Given the description of an element on the screen output the (x, y) to click on. 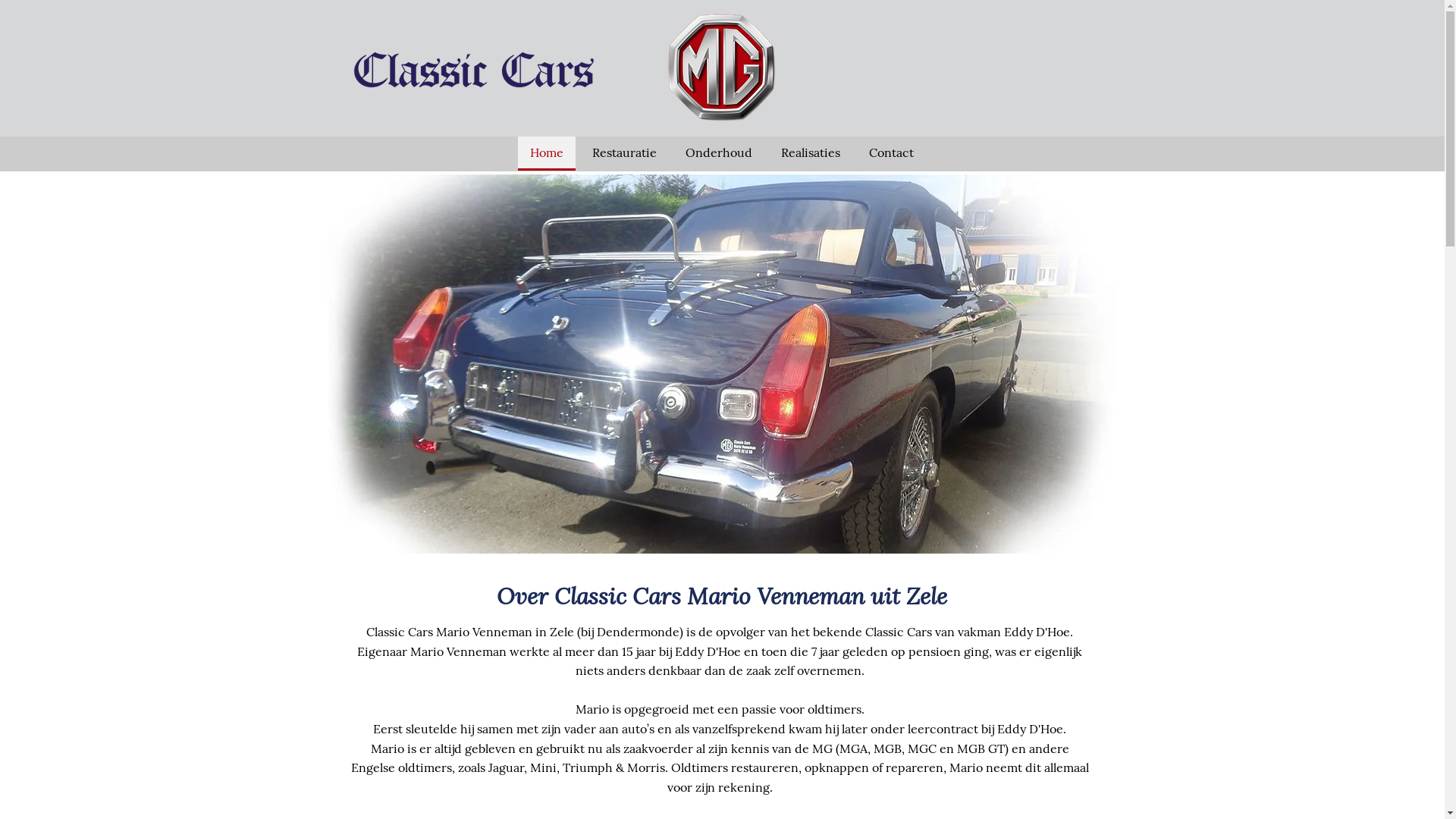
Onderhoud Element type: text (718, 153)
Home Element type: text (545, 153)
Restauratie Element type: text (623, 153)
Contact Element type: text (890, 153)
Realisaties Element type: text (810, 153)
